Given the description of an element on the screen output the (x, y) to click on. 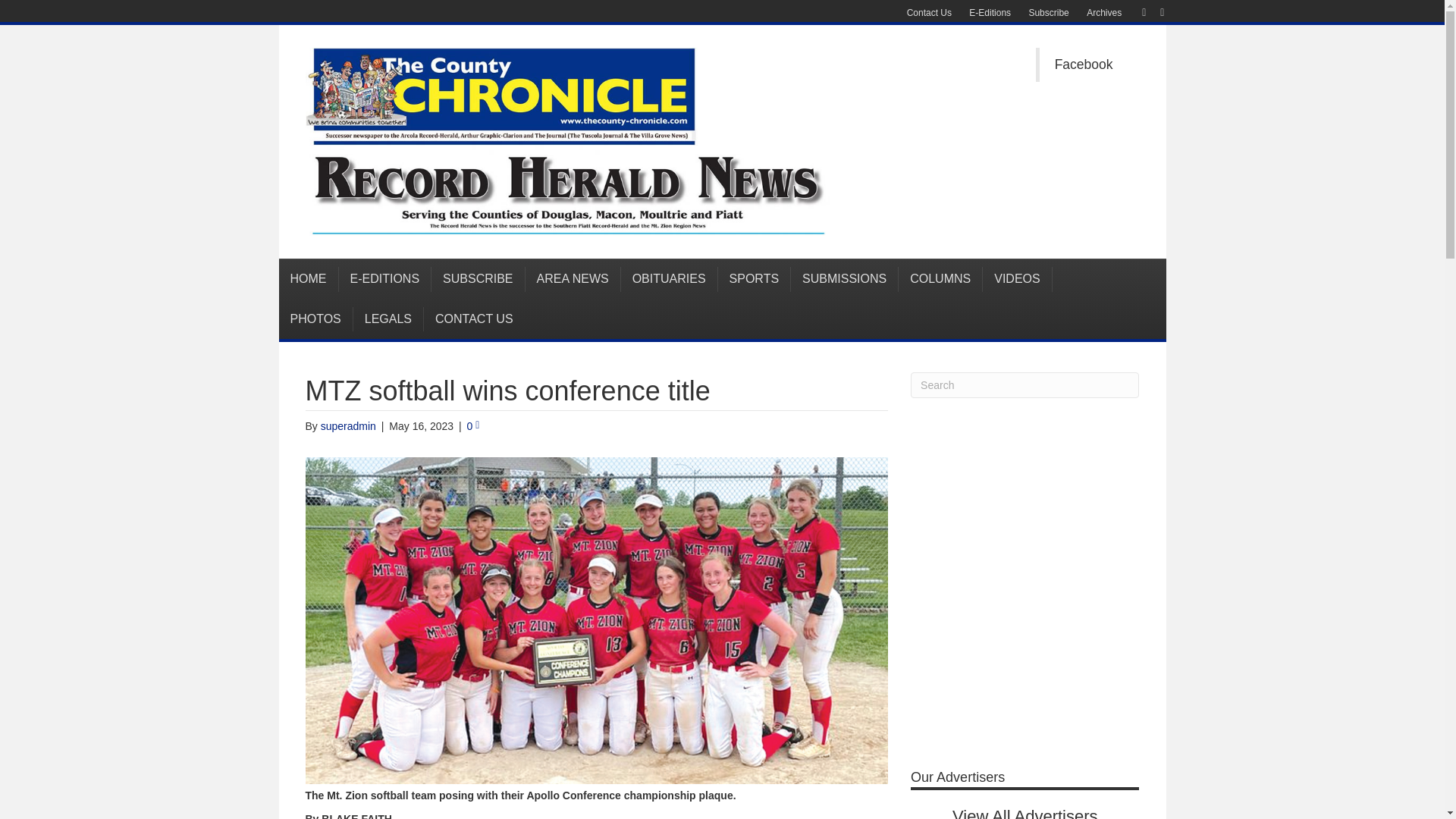
Subscribe (1047, 13)
E-Editions (988, 13)
Contact Us (929, 13)
E-EDITIONS (383, 278)
Archives (1103, 13)
SUBSCRIBE (477, 278)
Email (1154, 11)
AREA NEWS (573, 278)
Type and press Enter to search. (1024, 385)
Facebook (1083, 64)
